Given the description of an element on the screen output the (x, y) to click on. 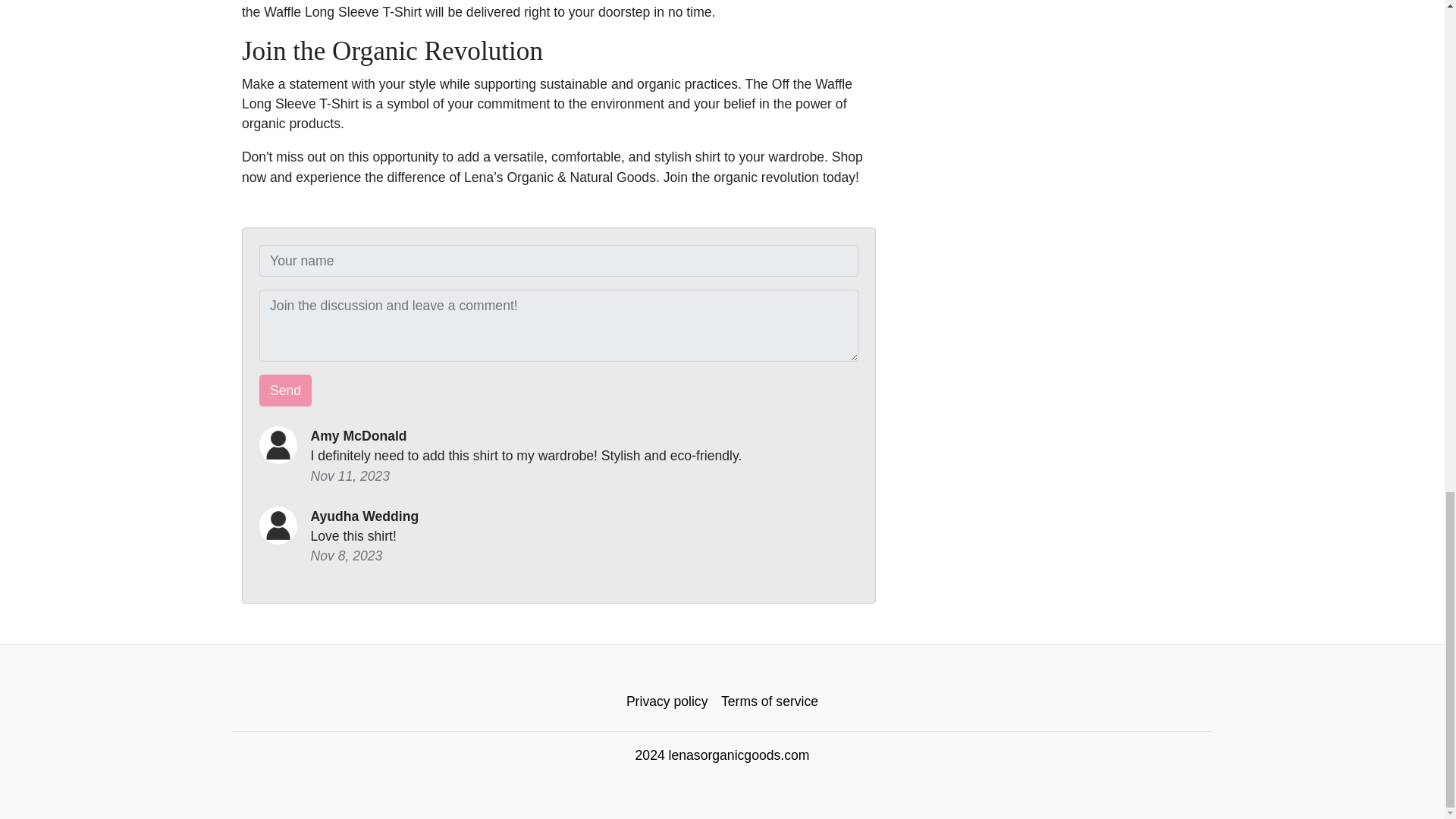
Send (285, 390)
Terms of service (769, 701)
Privacy policy (667, 701)
Send (285, 390)
